Given the description of an element on the screen output the (x, y) to click on. 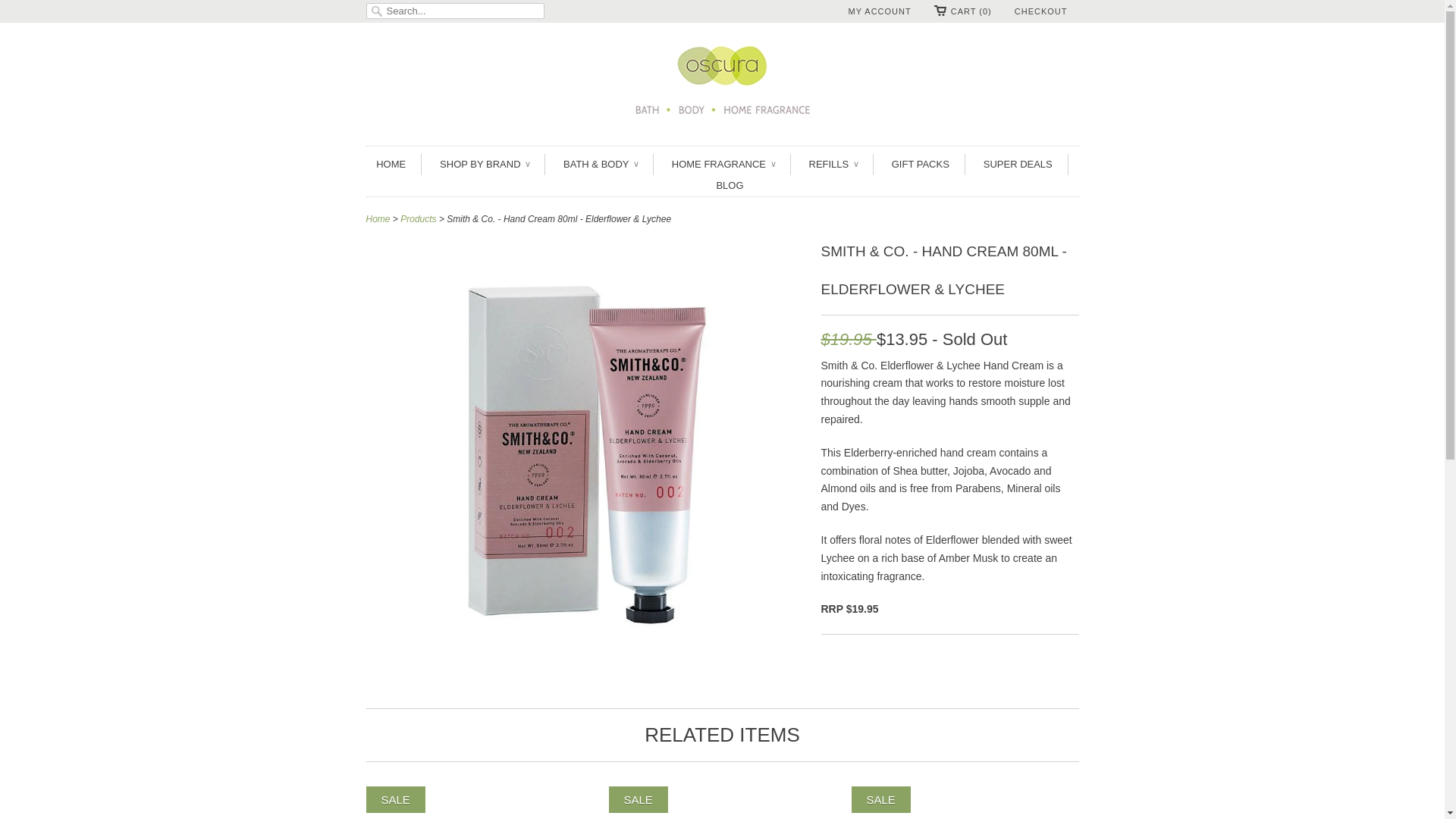
MY ACCOUNT (879, 11)
Checkout (1040, 11)
Shop By Brand (484, 164)
Home (390, 164)
Shopping Cart (962, 11)
My Account (879, 11)
CHECKOUT (1040, 11)
HOME (390, 164)
